Given the description of an element on the screen output the (x, y) to click on. 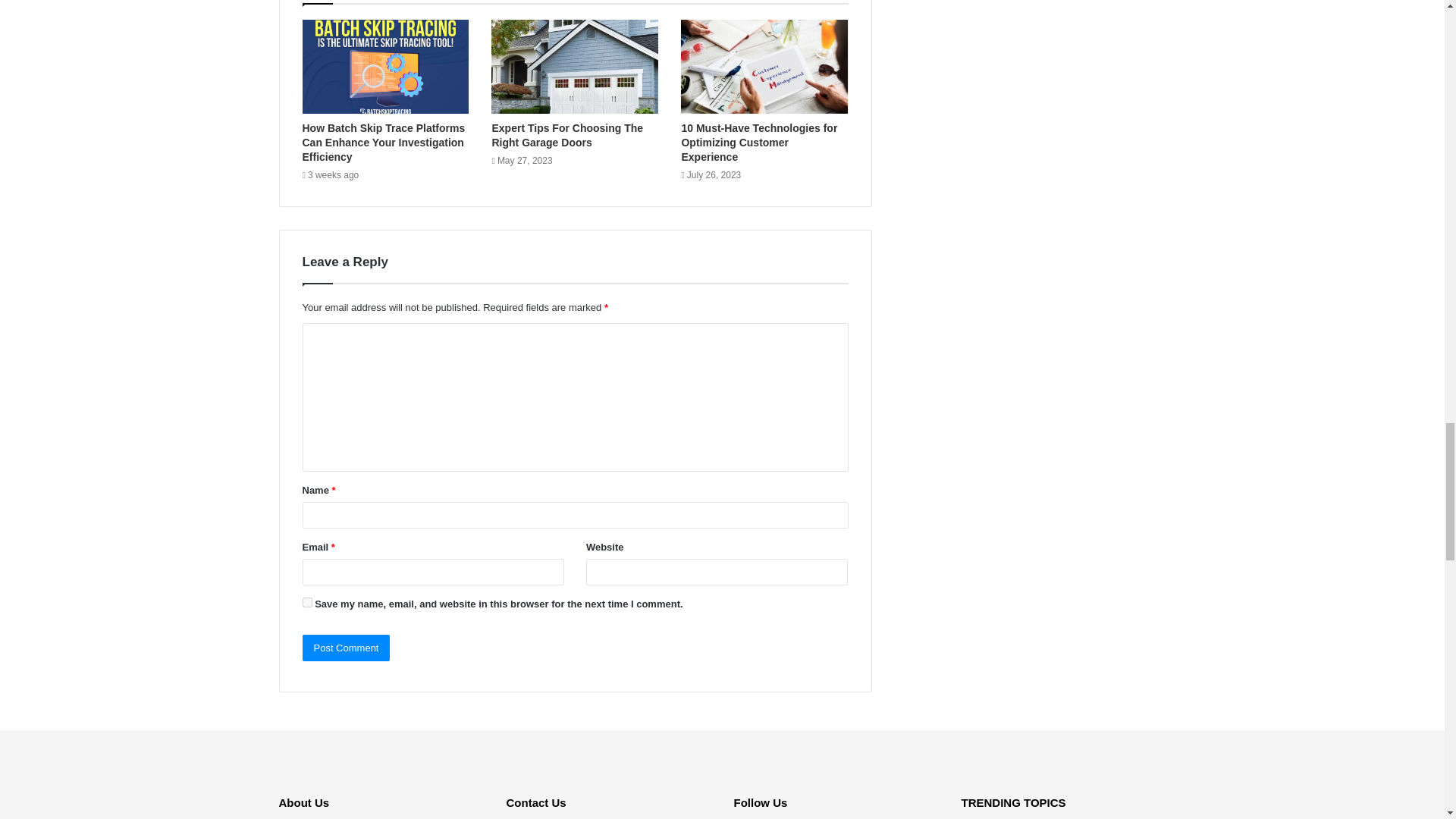
Expert Tips For Choosing The Right Garage Doors (567, 135)
10 Must-Have Technologies for Optimizing Customer Experience (759, 142)
Post Comment (345, 647)
yes (306, 602)
